Given the description of an element on the screen output the (x, y) to click on. 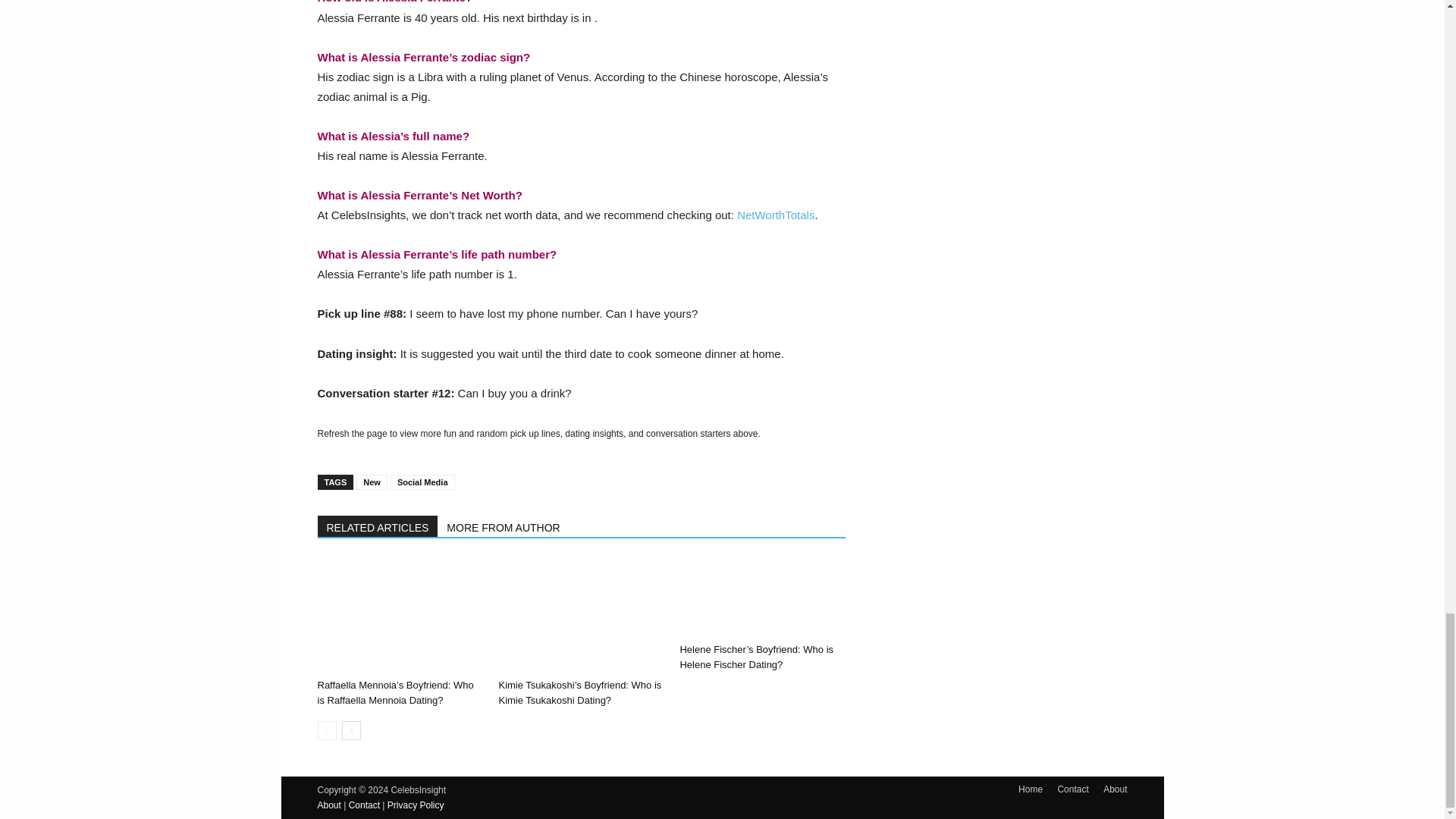
About (328, 805)
Social Media (422, 482)
Home (1029, 789)
Alessia Ferrante net worth status (774, 214)
Privacy Policy (415, 805)
Contact (364, 805)
RELATED ARTICLES (377, 526)
Contact (1072, 789)
NetWorthTotals (774, 214)
New (371, 482)
MORE FROM AUTHOR (503, 526)
About (1114, 789)
